Given the description of an element on the screen output the (x, y) to click on. 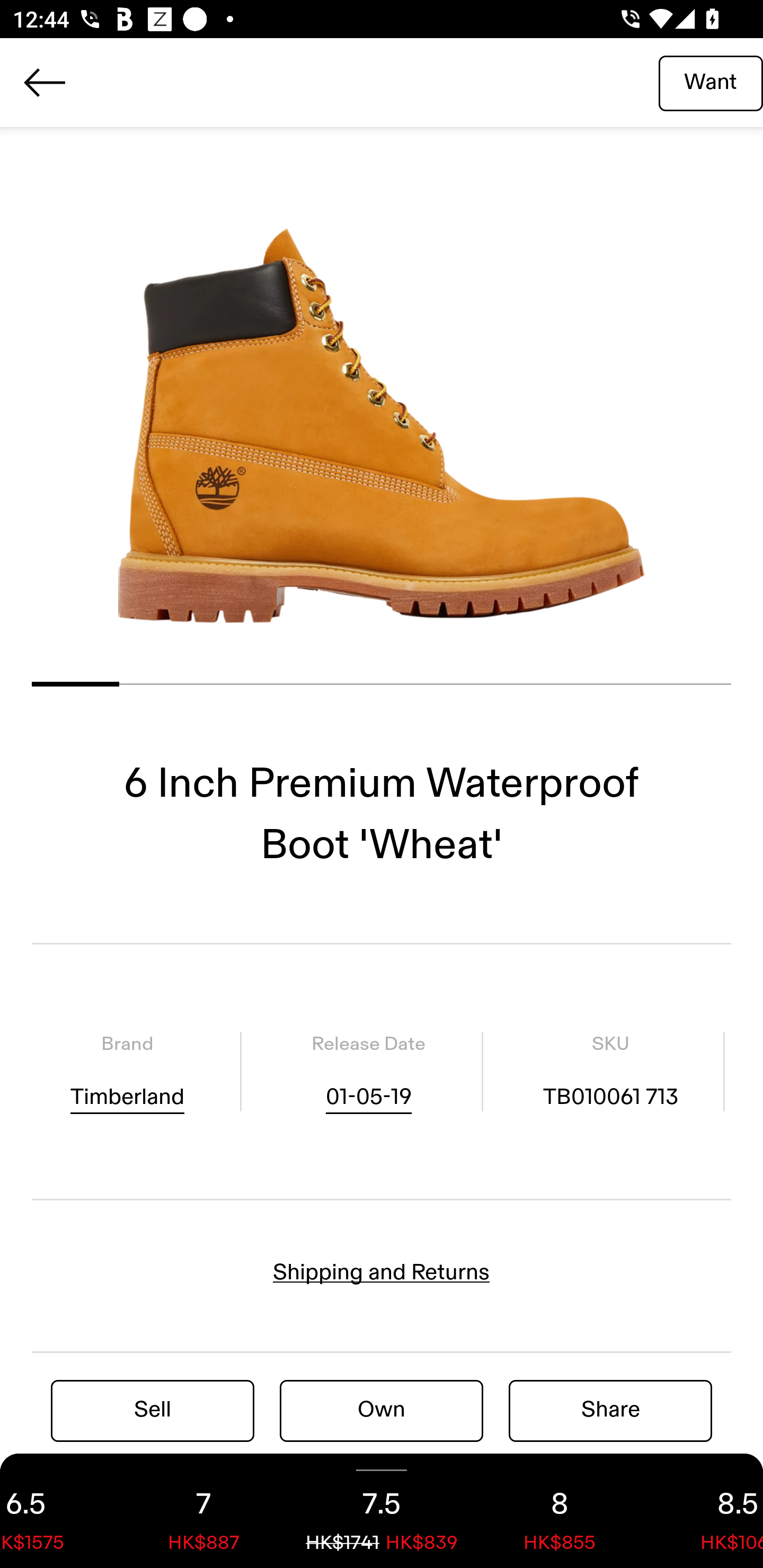
Want (710, 82)
Brand Timberland (126, 1070)
Release Date 01-05-19 (368, 1070)
SKU TB010061 713 (609, 1070)
Shipping and Returns (381, 1272)
Sell (152, 1410)
Own (381, 1410)
Share (609, 1410)
6.5 HK$1575 (57, 1510)
7 HK$887 (203, 1510)
7.5 HK$1741 HK$839 (381, 1510)
8 HK$855 (559, 1510)
8.5 HK$1061 (705, 1510)
